Given the description of an element on the screen output the (x, y) to click on. 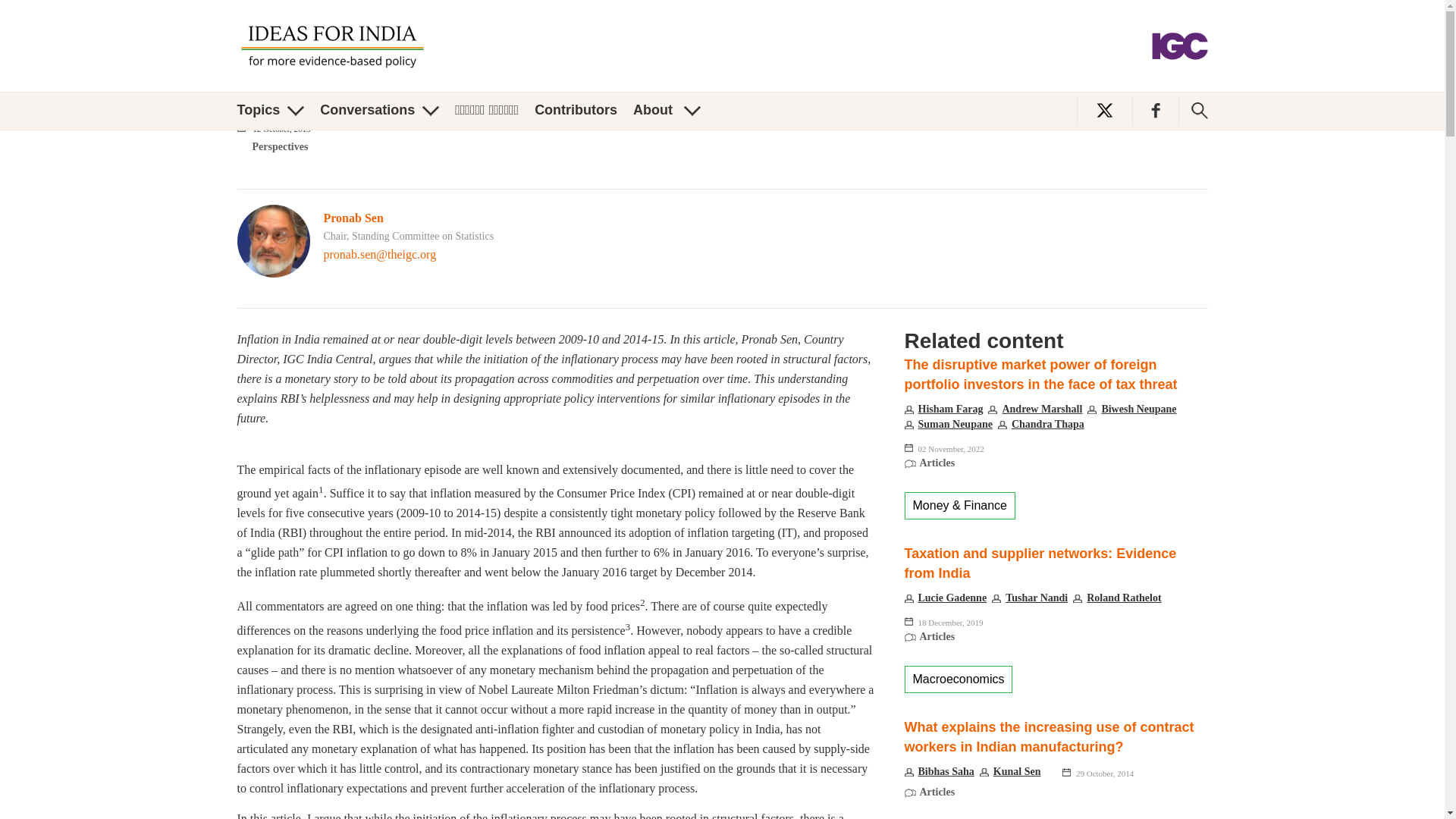
Contributors (575, 109)
About (666, 109)
Conversations (379, 109)
Topics (269, 109)
Pronab Sen (352, 217)
